Given the description of an element on the screen output the (x, y) to click on. 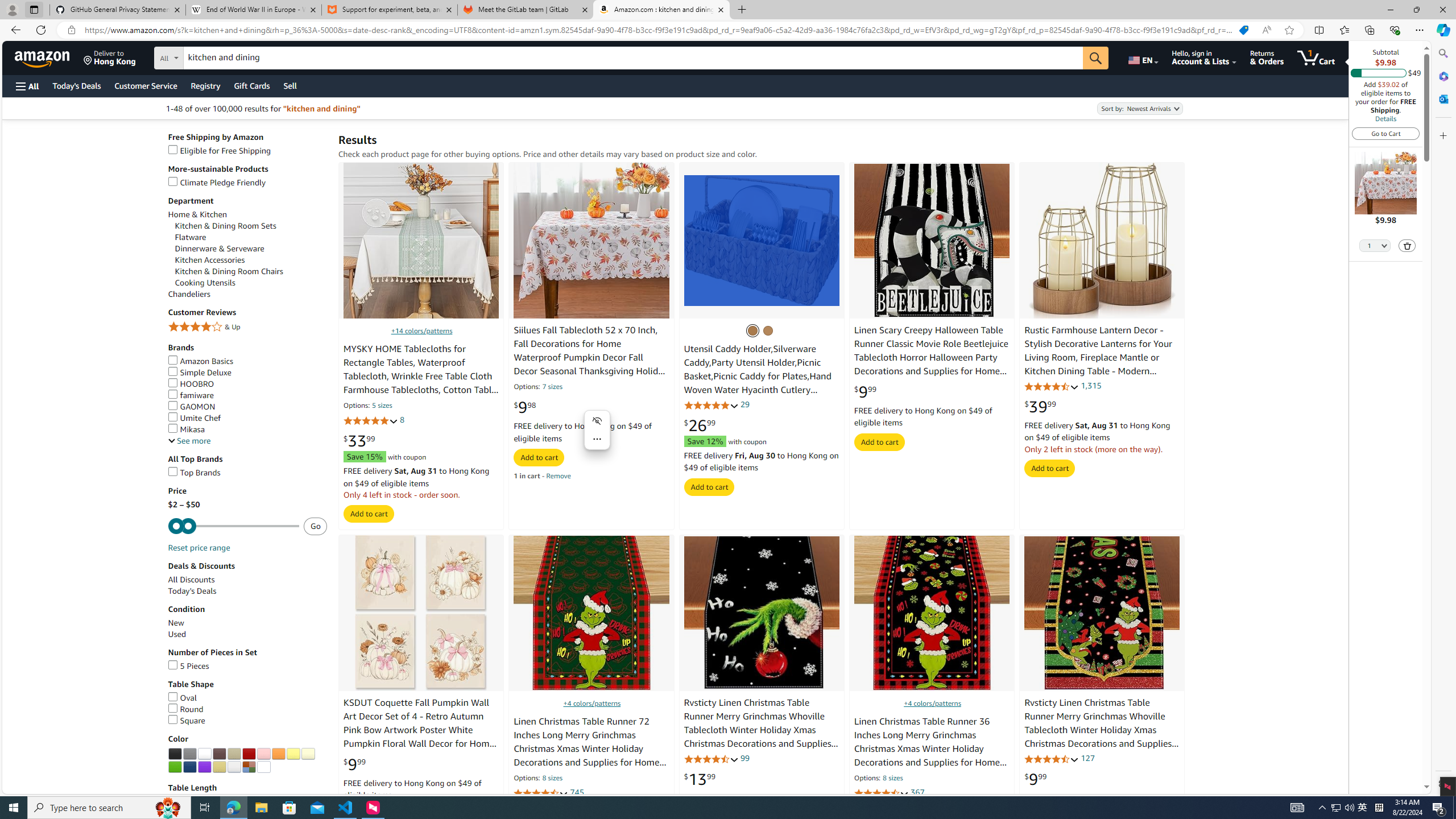
Delete (1407, 245)
GitHub General Privacy Statement - GitHub Docs (117, 9)
Delete (1407, 245)
Square (247, 720)
Details (1385, 118)
Cooking Utensils (250, 282)
Amazon.com : kitchen and dining (660, 9)
Beige (234, 753)
AutomationID: p_n_feature_twenty_browse-bin/3254104011 (263, 753)
$9.99 (1035, 779)
Climate Pledge Friendly (216, 182)
Hello, sign in Account & Lists (1203, 57)
